Given the description of an element on the screen output the (x, y) to click on. 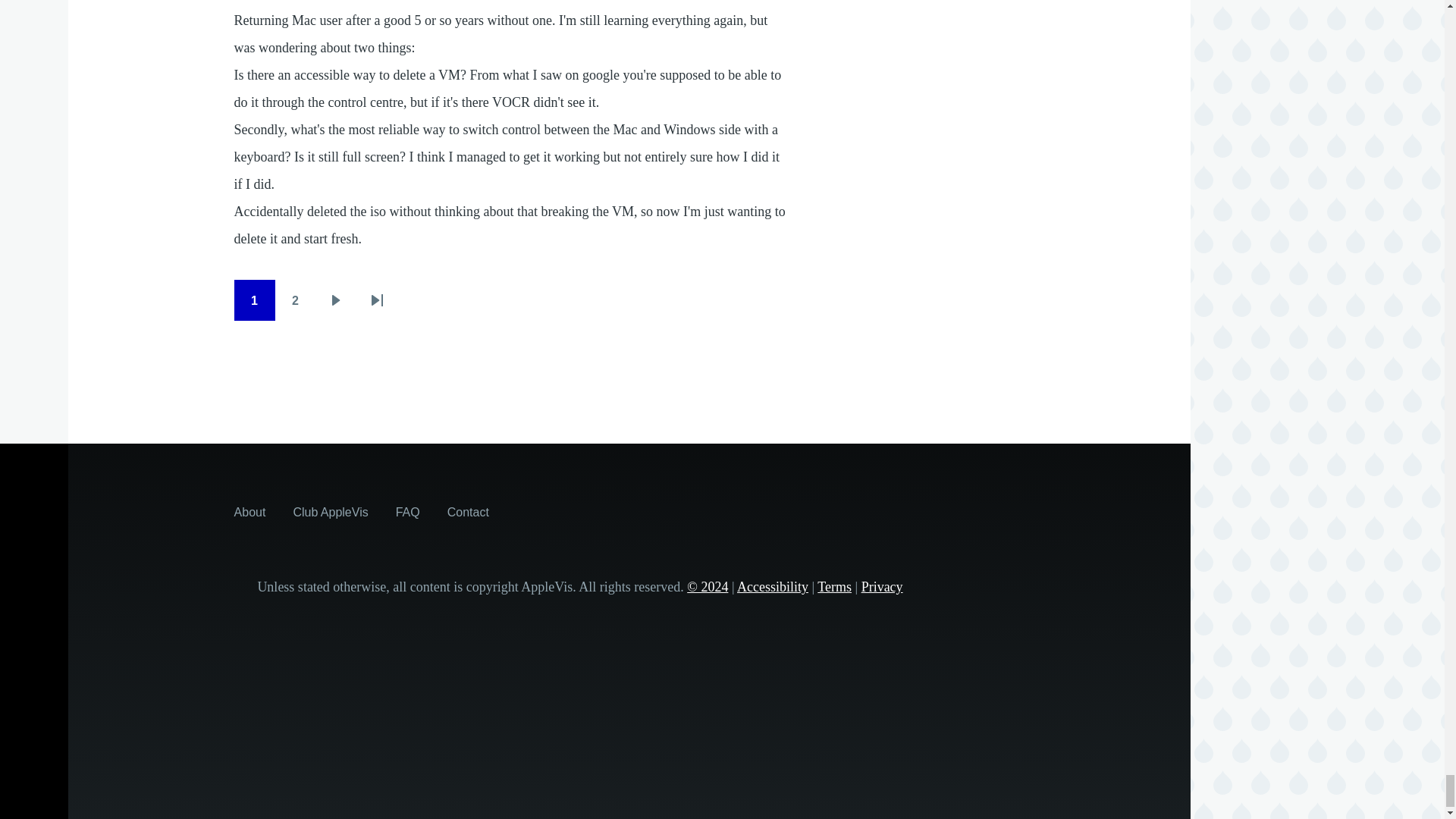
Go to next page (335, 300)
Answers to some frequently asked questions about AppleVis (408, 511)
Go to page 2 (295, 300)
About (250, 511)
Go to last page (376, 300)
